Given the description of an element on the screen output the (x, y) to click on. 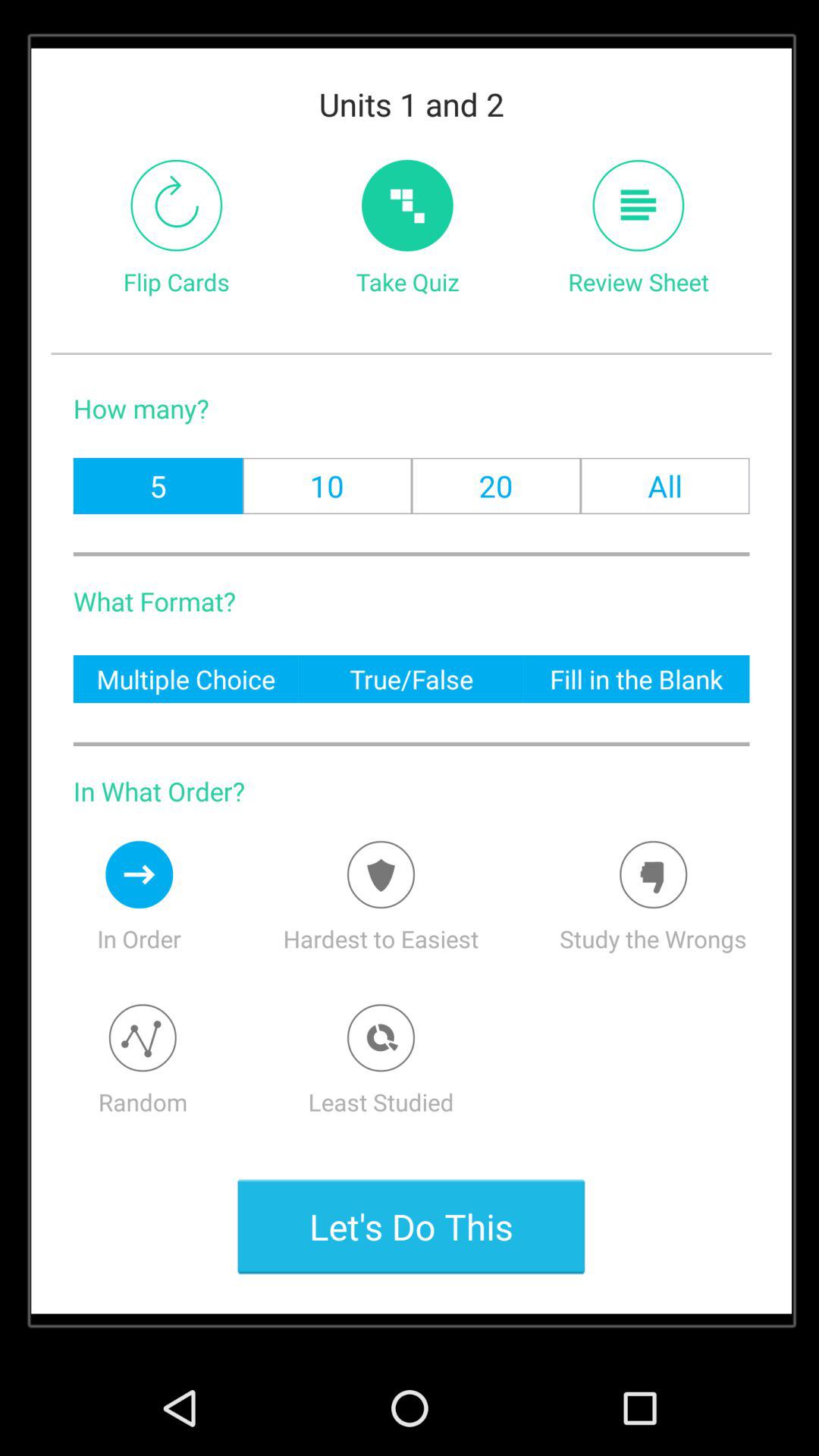
flip until fill in the item (636, 678)
